Given the description of an element on the screen output the (x, y) to click on. 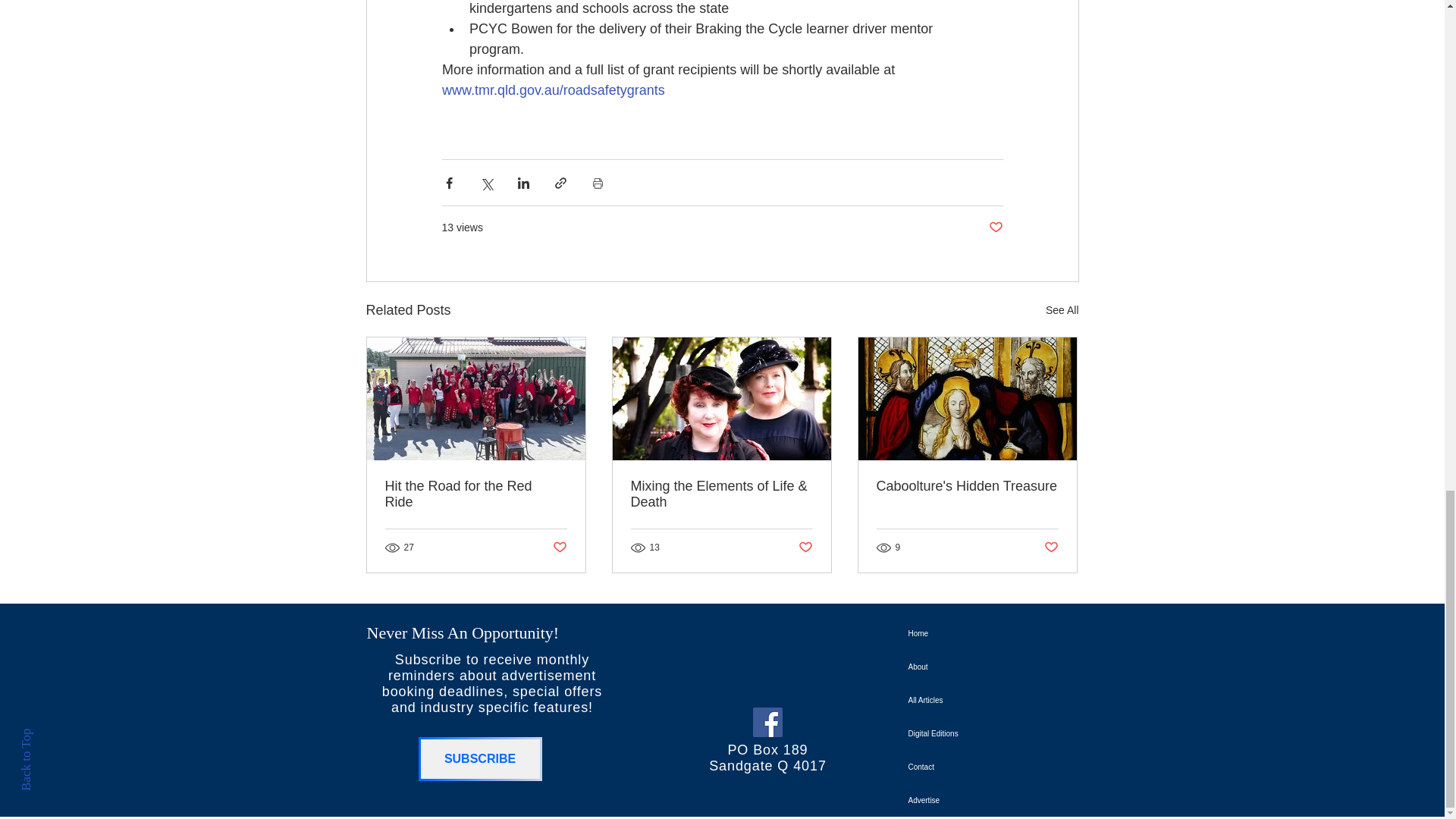
Home (949, 633)
All Articles (949, 700)
Hit the Road for the Red Ride  (476, 494)
Post not marked as liked (995, 227)
Contact (949, 767)
SUBSCRIBE (480, 759)
Post not marked as liked (804, 546)
About (949, 666)
See All (1061, 310)
Post not marked as liked (558, 546)
Advertise (949, 800)
Post not marked as liked (1050, 546)
Digital Editions (949, 734)
Caboolture's Hidden Treasure (967, 486)
